Given the description of an element on the screen output the (x, y) to click on. 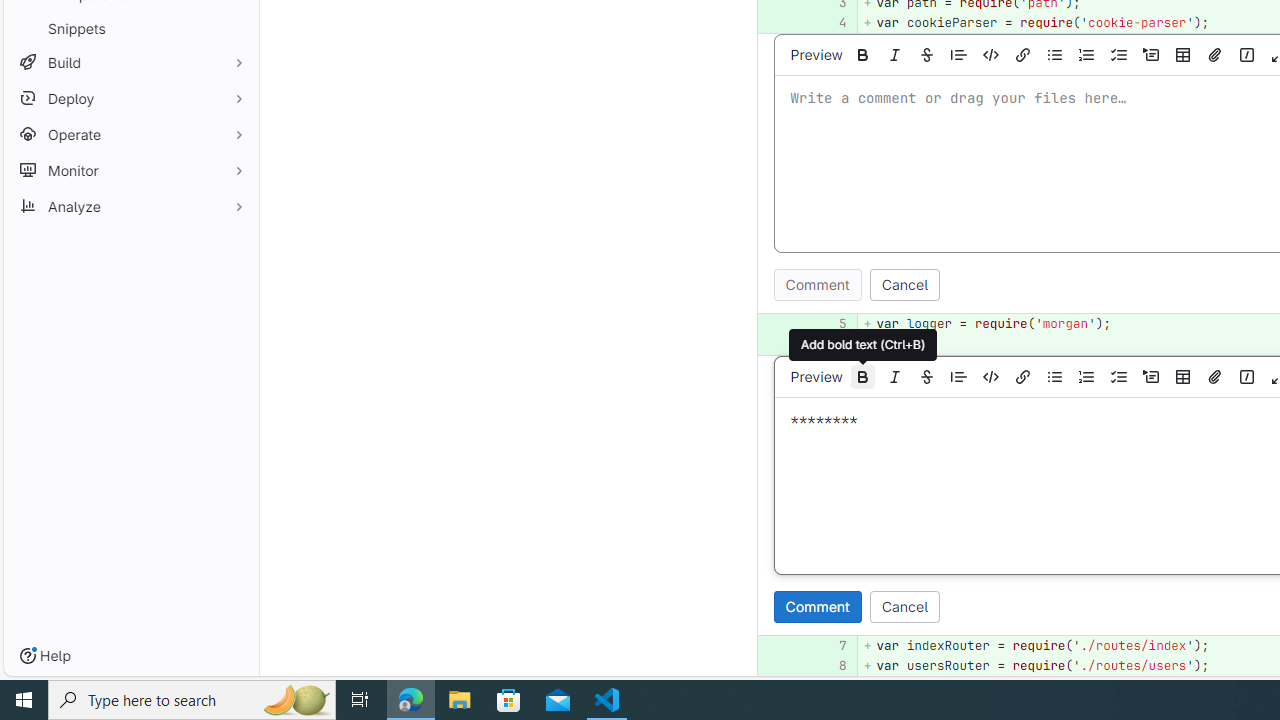
Cancel (904, 605)
Build (130, 62)
5 (831, 323)
Attach a file or image (1215, 376)
Monitor (130, 170)
Add a link (Ctrl+K) (1023, 376)
Build (130, 62)
5 (829, 323)
7 (829, 645)
Deploy (130, 98)
Add a checklist (1119, 376)
Help (45, 655)
Add a comment to this line  (781, 665)
Analyze (130, 206)
Add a bullet list (1055, 376)
